Given the description of an element on the screen output the (x, y) to click on. 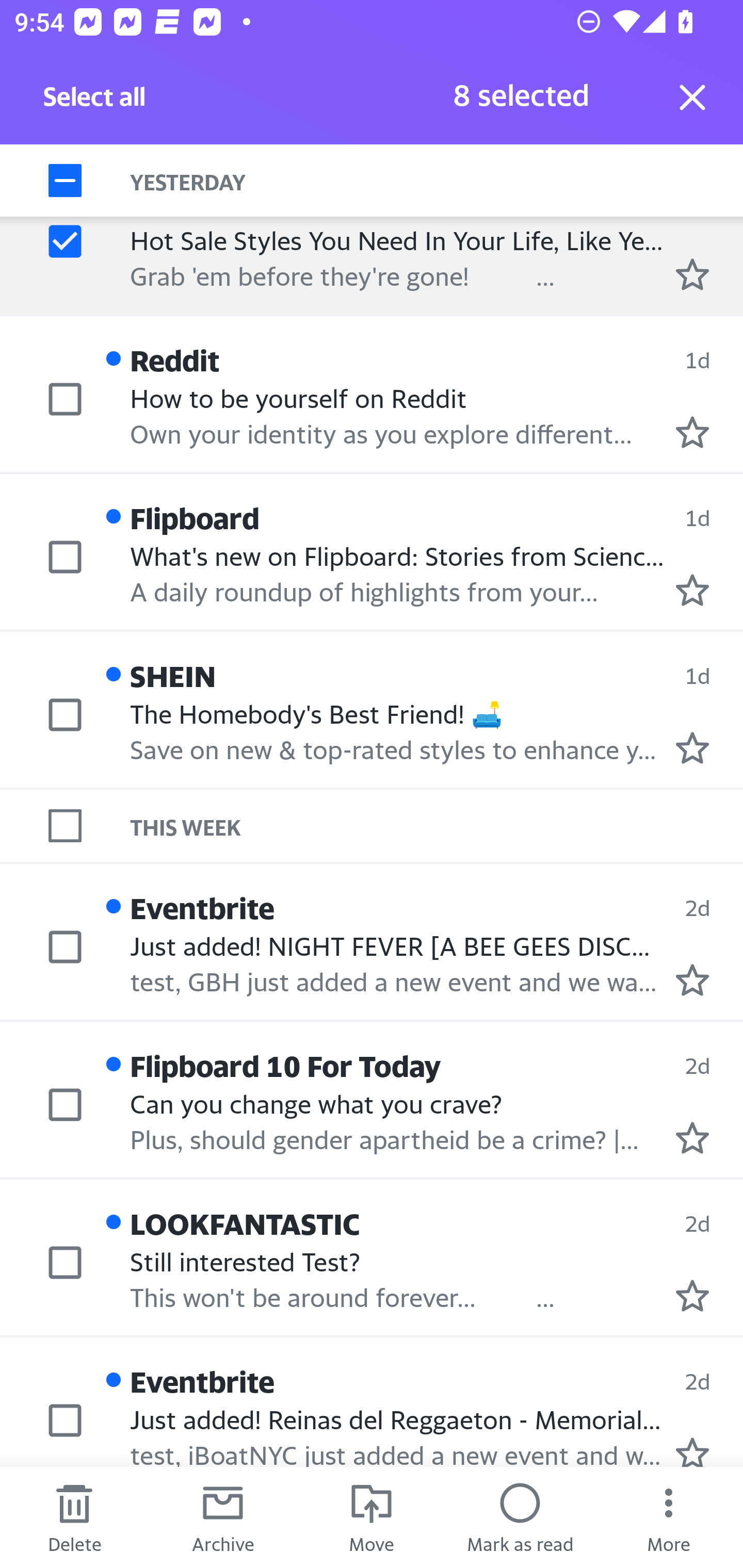
Exit selection mode (692, 97)
Select all (94, 101)
Mark as starred. (692, 274)
Mark as starred. (692, 431)
Mark as starred. (692, 590)
Mark as starred. (692, 747)
THIS WEEK (436, 825)
Mark as starred. (692, 979)
Mark as starred. (692, 1137)
Mark as starred. (692, 1295)
Mark as starred. (692, 1450)
Delete (74, 1517)
Archive (222, 1517)
Move (371, 1517)
Mark as read (519, 1517)
More (668, 1517)
